Given the description of an element on the screen output the (x, y) to click on. 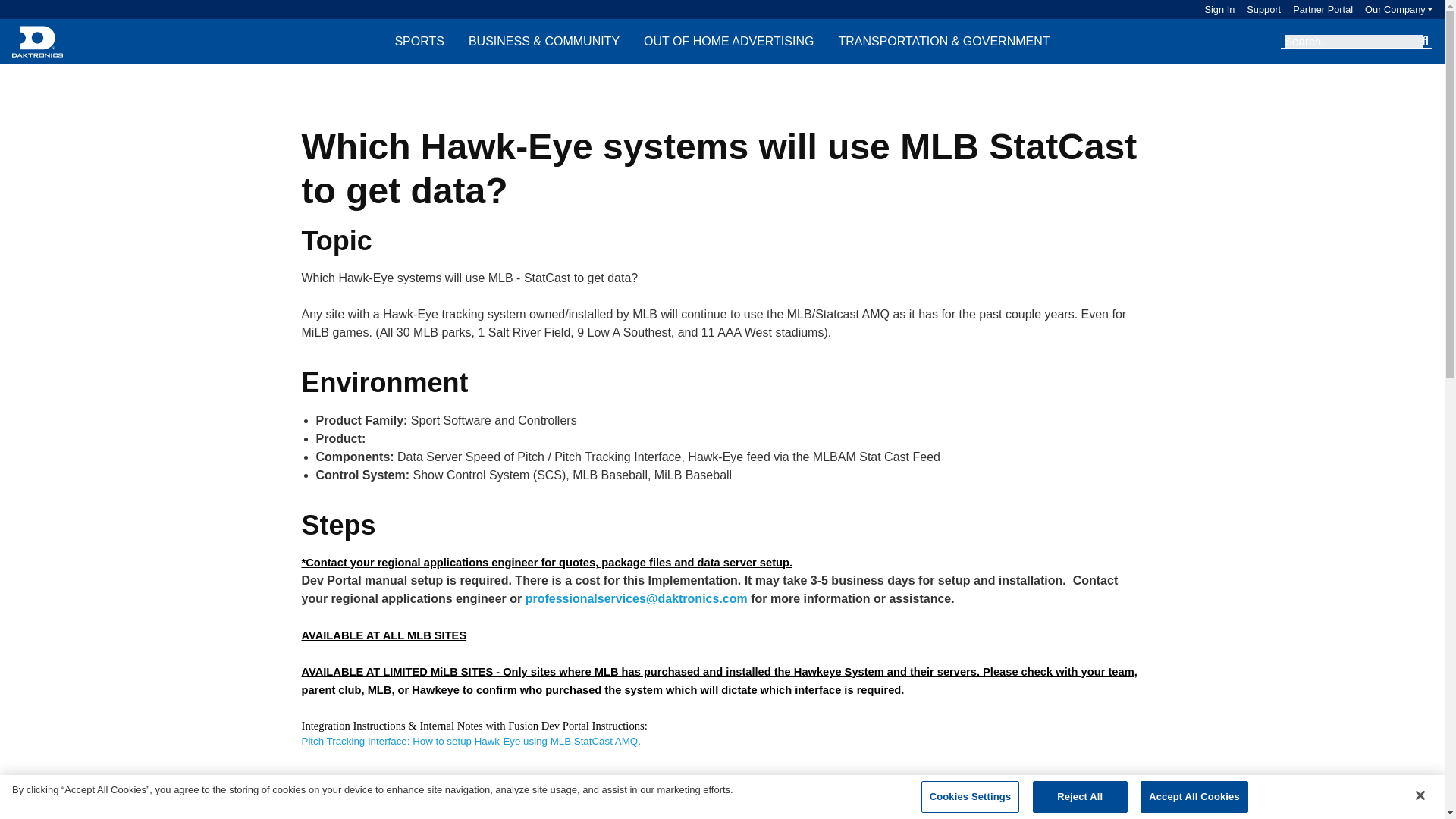
Support (1257, 9)
Partner Portal (1316, 9)
Our Company (1398, 9)
Daktronics (36, 41)
SPORTS (419, 41)
Sign In (1219, 9)
